Given the description of an element on the screen output the (x, y) to click on. 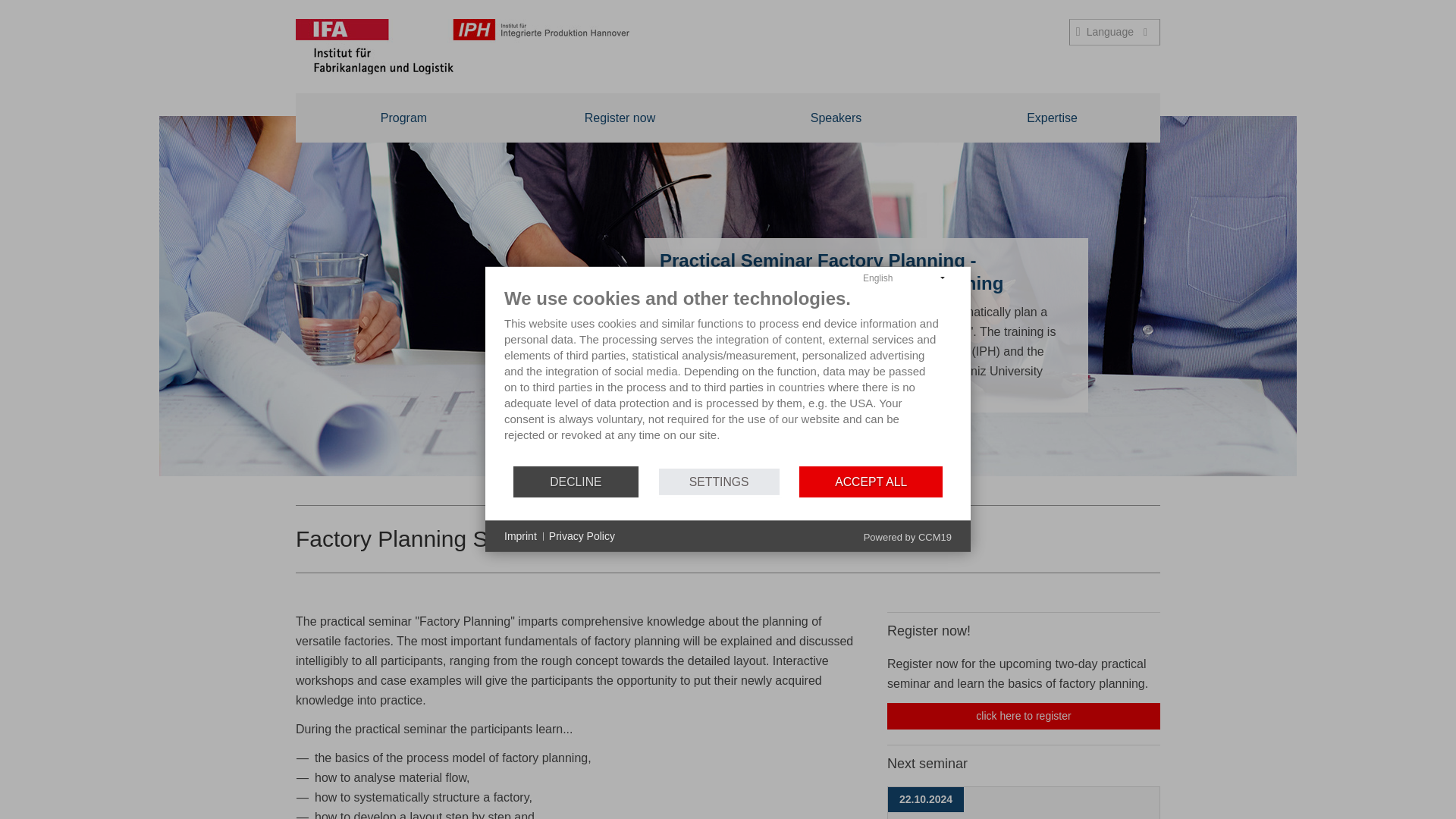
click here to register (1114, 31)
SETTINGS (1023, 715)
Sprache (718, 481)
Register now (1114, 31)
Program (620, 117)
Privacy Policy (403, 117)
Powered by CCM19 (581, 536)
Imprint (907, 536)
ACCEPT ALL (520, 536)
